Given the description of an element on the screen output the (x, y) to click on. 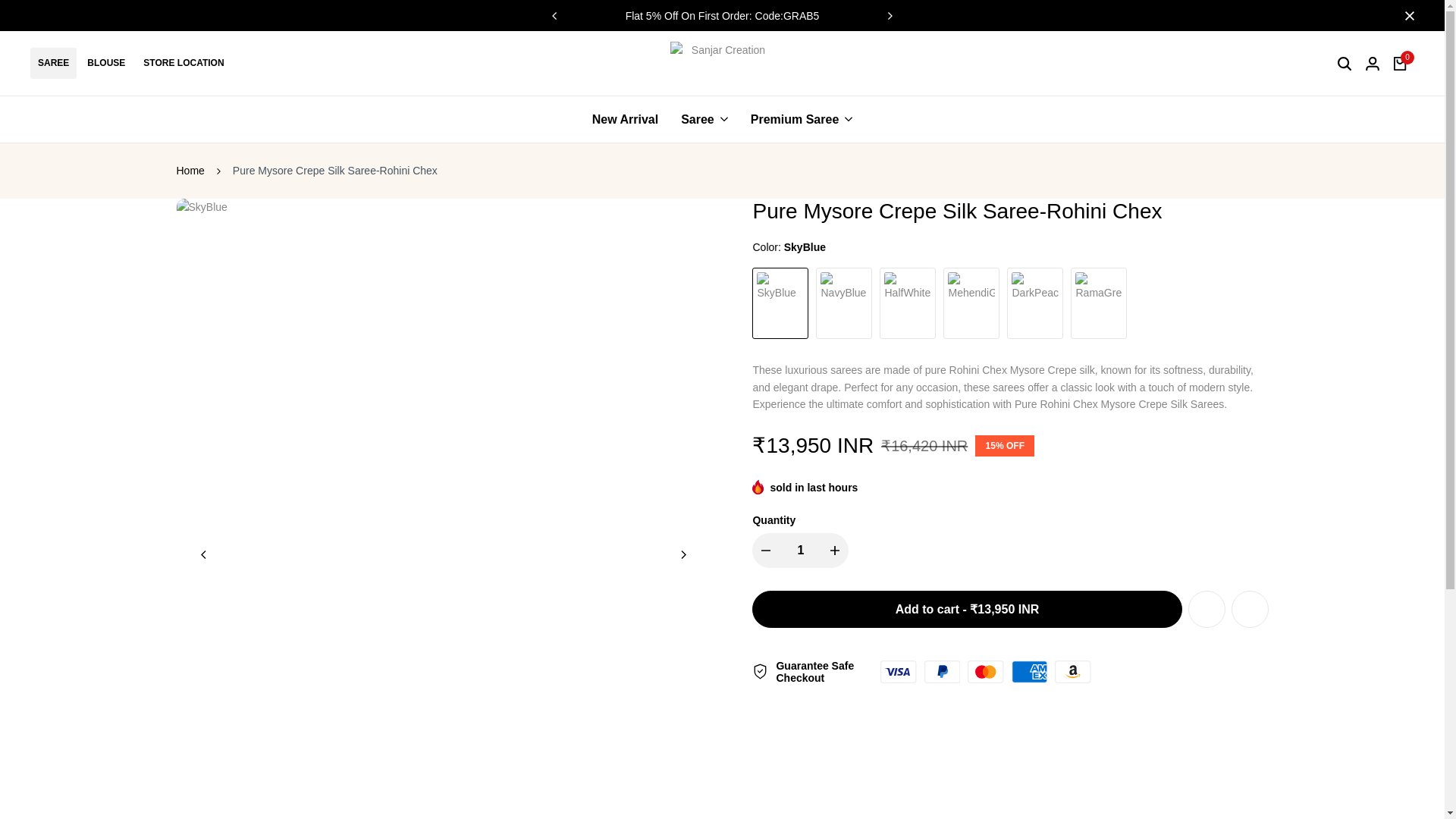
Visa (897, 671)
BLOUSE (106, 62)
STORE LOCATION (183, 62)
PayPal (942, 671)
SAREE (53, 62)
0 (1399, 63)
New Arrival (625, 119)
